Given the description of an element on the screen output the (x, y) to click on. 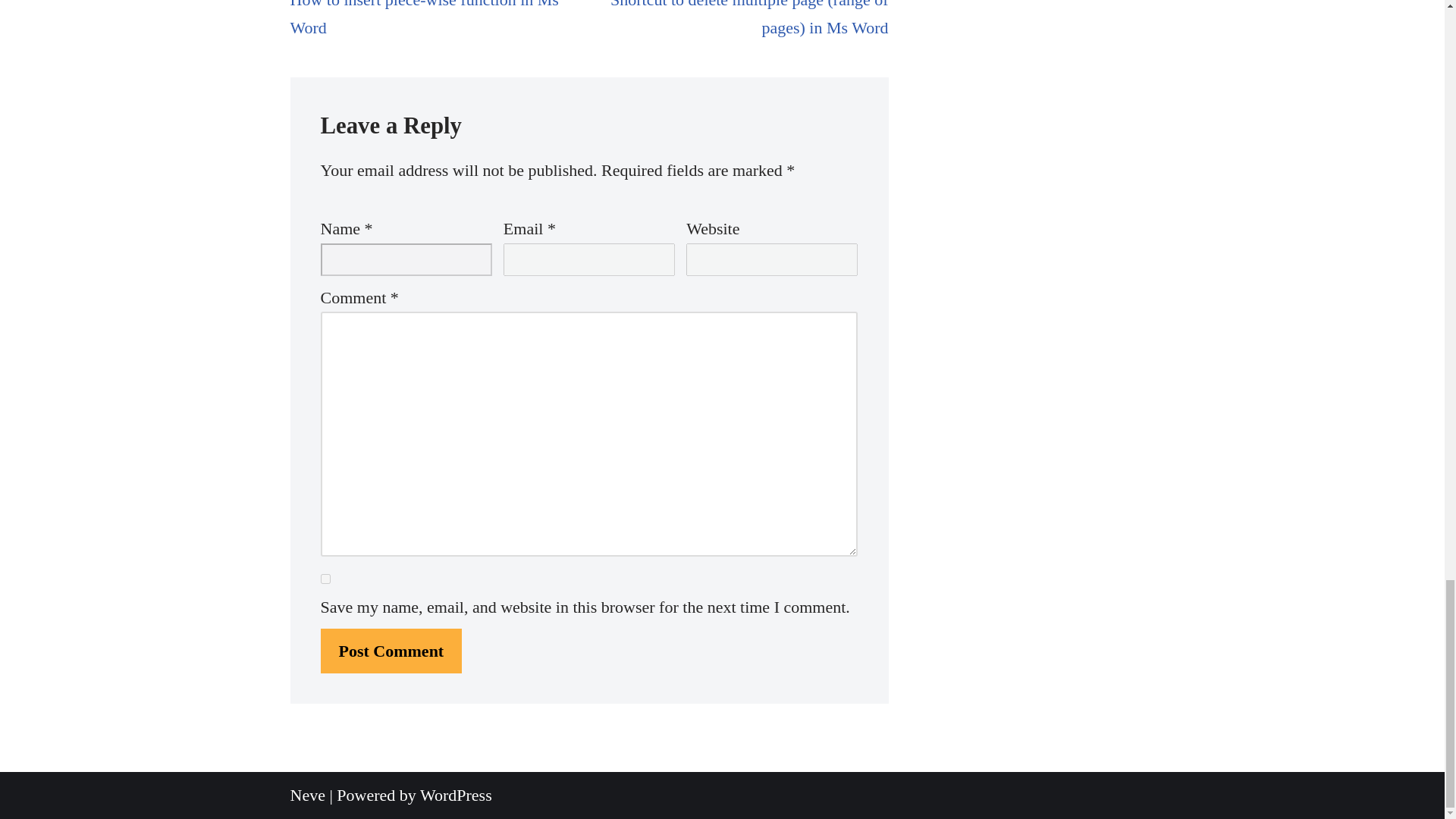
Post Comment (390, 650)
Post Comment (390, 650)
yes (325, 578)
WordPress (456, 794)
Neve (434, 20)
